Given the description of an element on the screen output the (x, y) to click on. 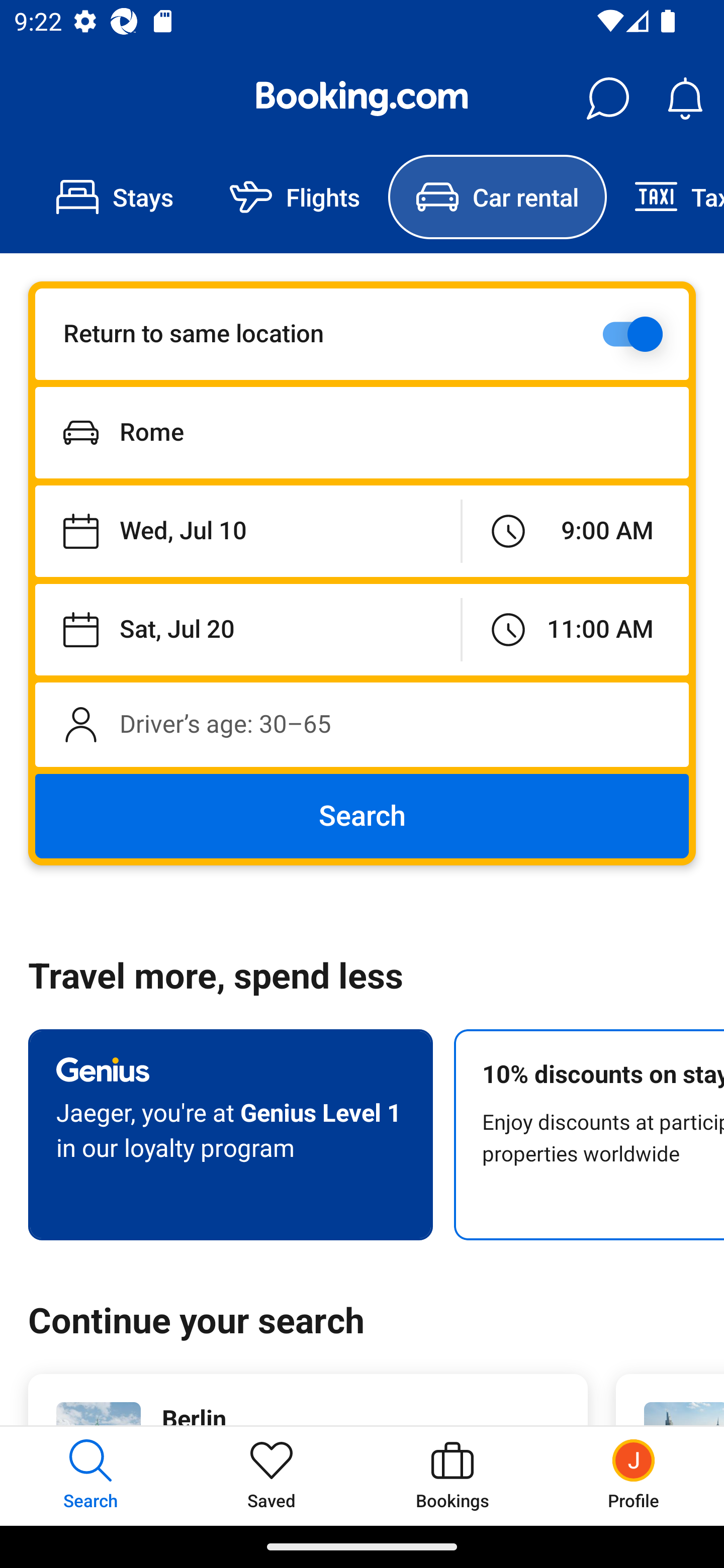
Messages (607, 98)
Notifications (685, 98)
Stays (114, 197)
Flights (294, 197)
Car rental (497, 197)
Taxi (665, 197)
Pick-up location: Text(name=Rome) (361, 432)
Pick-up date: 2024-07-10 (247, 531)
Pick-up time: 09:00:00.000 (575, 531)
Drop-off date: 2024-07-20 (247, 629)
Drop-off time: 11:00:00.000 (575, 629)
Enter the driver's age (361, 724)
Search (361, 815)
Saved (271, 1475)
Bookings (452, 1475)
Profile (633, 1475)
